Given the description of an element on the screen output the (x, y) to click on. 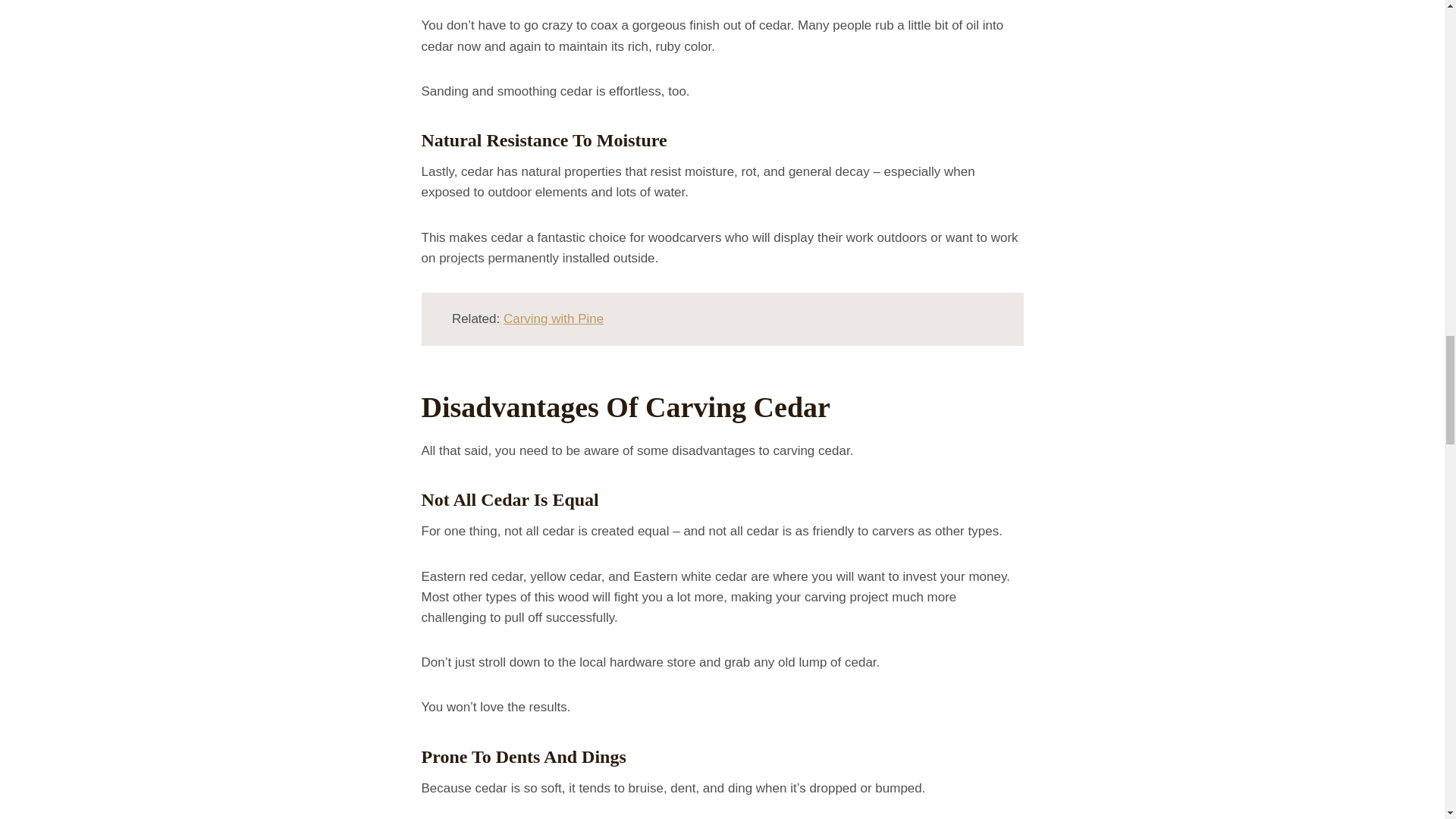
Carving with Pine (553, 318)
